Given the description of an element on the screen output the (x, y) to click on. 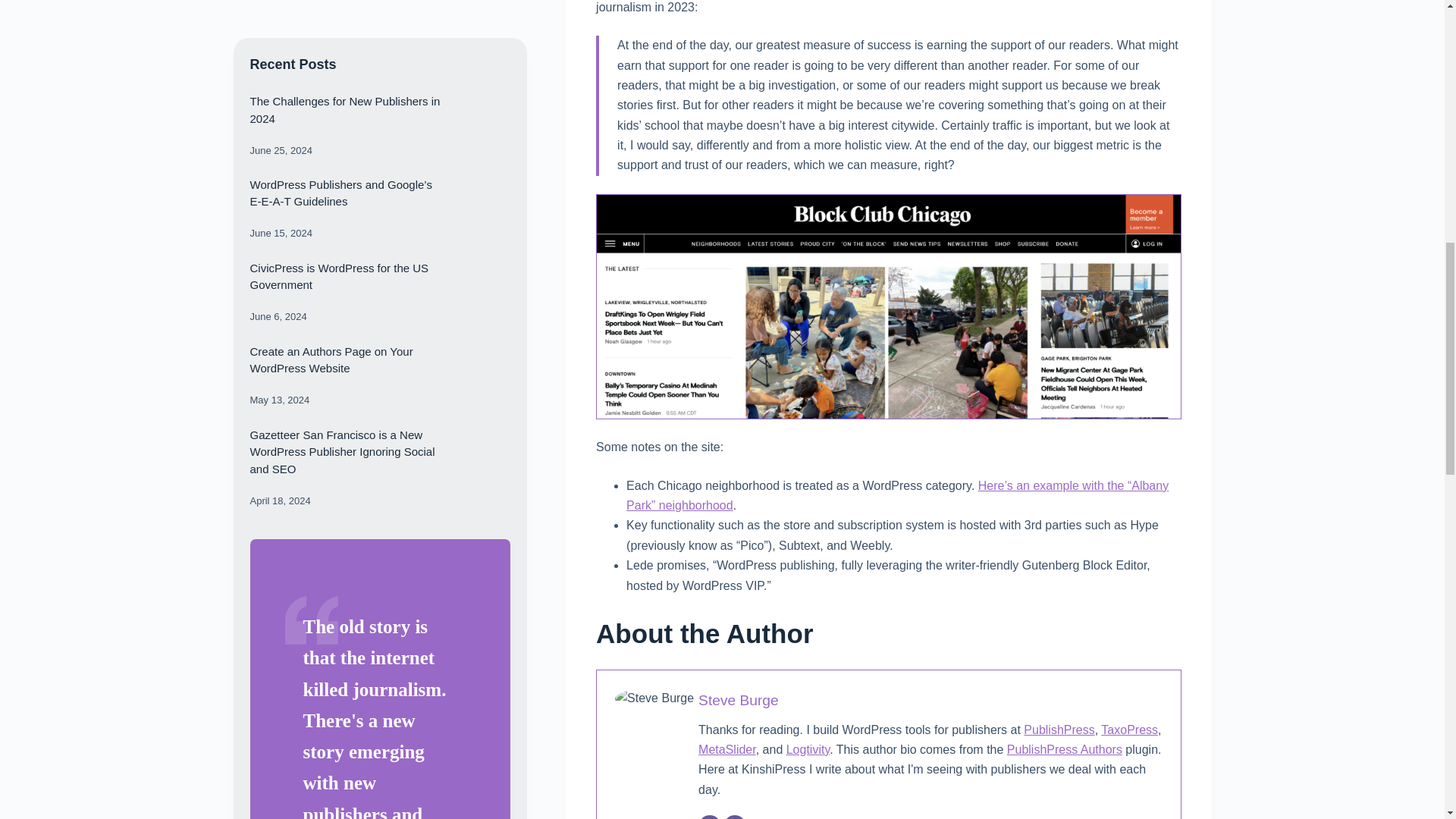
PublishPress Authors (1064, 748)
MetaSlider (726, 748)
Steve Burge (738, 700)
Logtivity (807, 748)
PublishPress (1058, 729)
TaxoPress (1128, 729)
Steve Burge (738, 700)
